Given the description of an element on the screen output the (x, y) to click on. 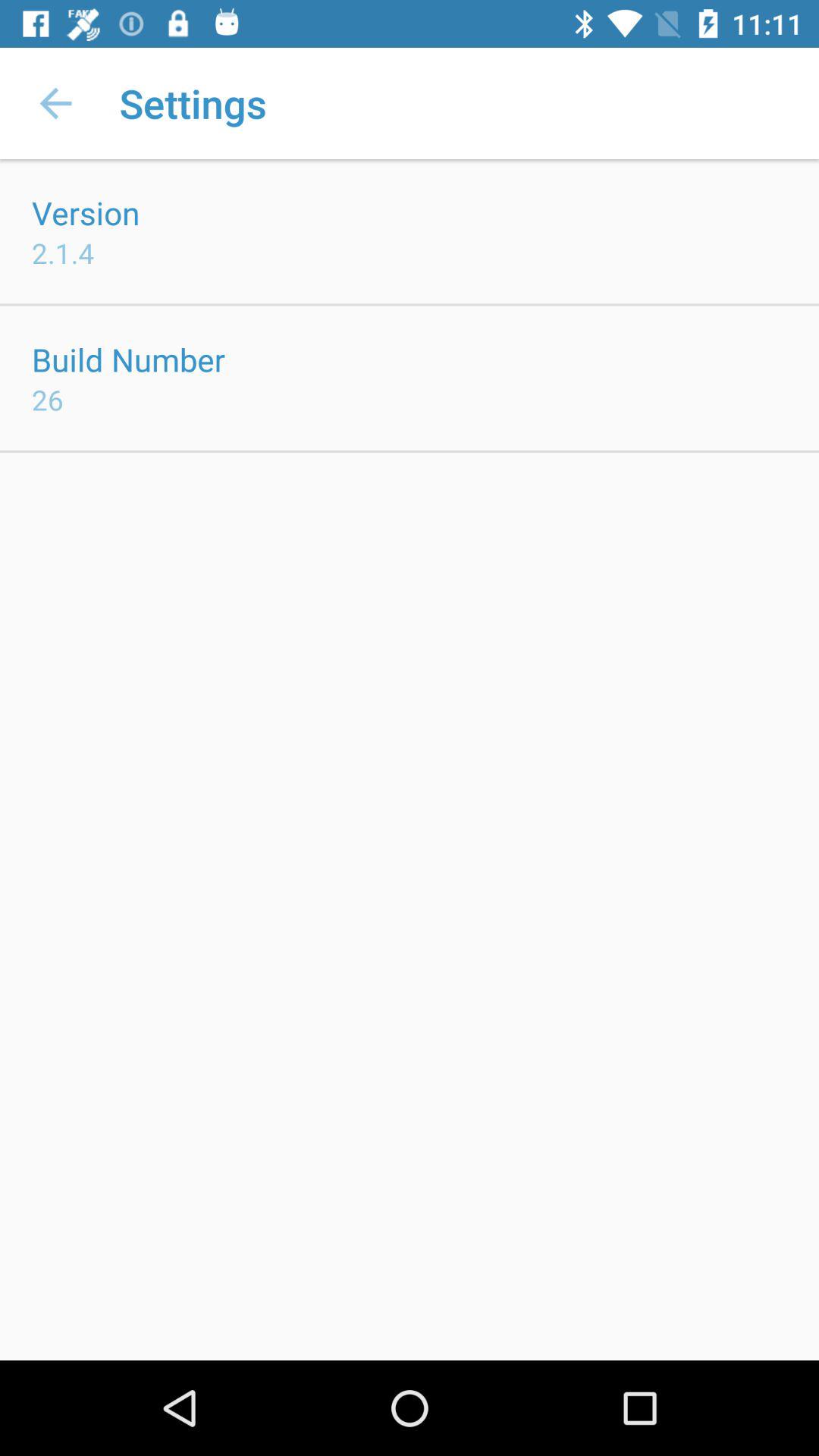
press the version item (85, 212)
